Given the description of an element on the screen output the (x, y) to click on. 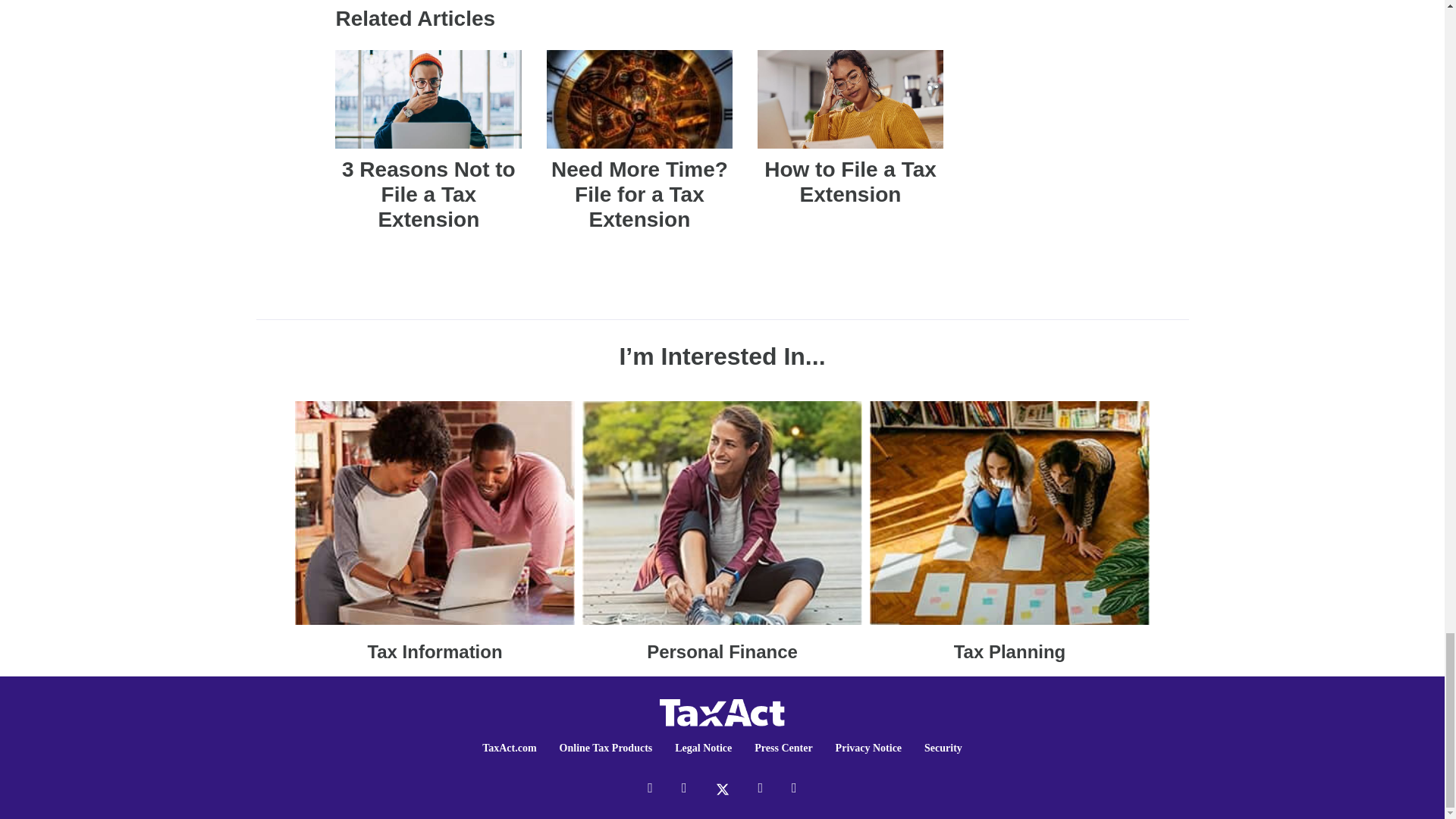
TaxAct on Twitter (722, 787)
Tax Information (435, 530)
Personal Finance (721, 530)
Impact of COVID-19 on Taxes (1009, 530)
TaxAct Blog (721, 711)
